Given the description of an element on the screen output the (x, y) to click on. 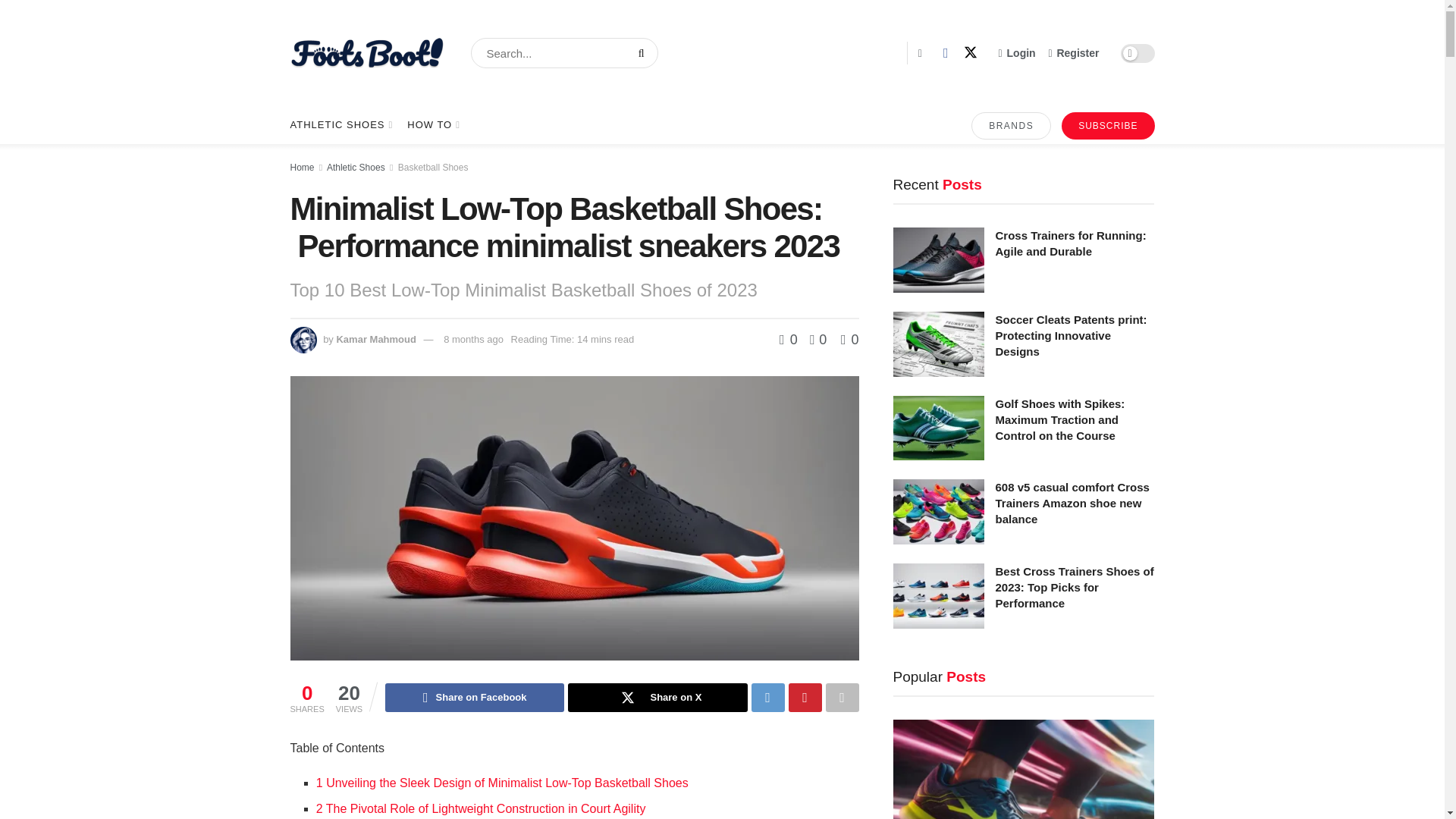
Kamar Mahmoud (375, 338)
Login (1016, 53)
0 (790, 339)
8 months ago (473, 338)
BRANDS (1011, 125)
Basketball Shoes (432, 167)
ATHLETIC SHOES (339, 125)
Athletic Shoes (355, 167)
HOW TO (432, 125)
